Given the description of an element on the screen output the (x, y) to click on. 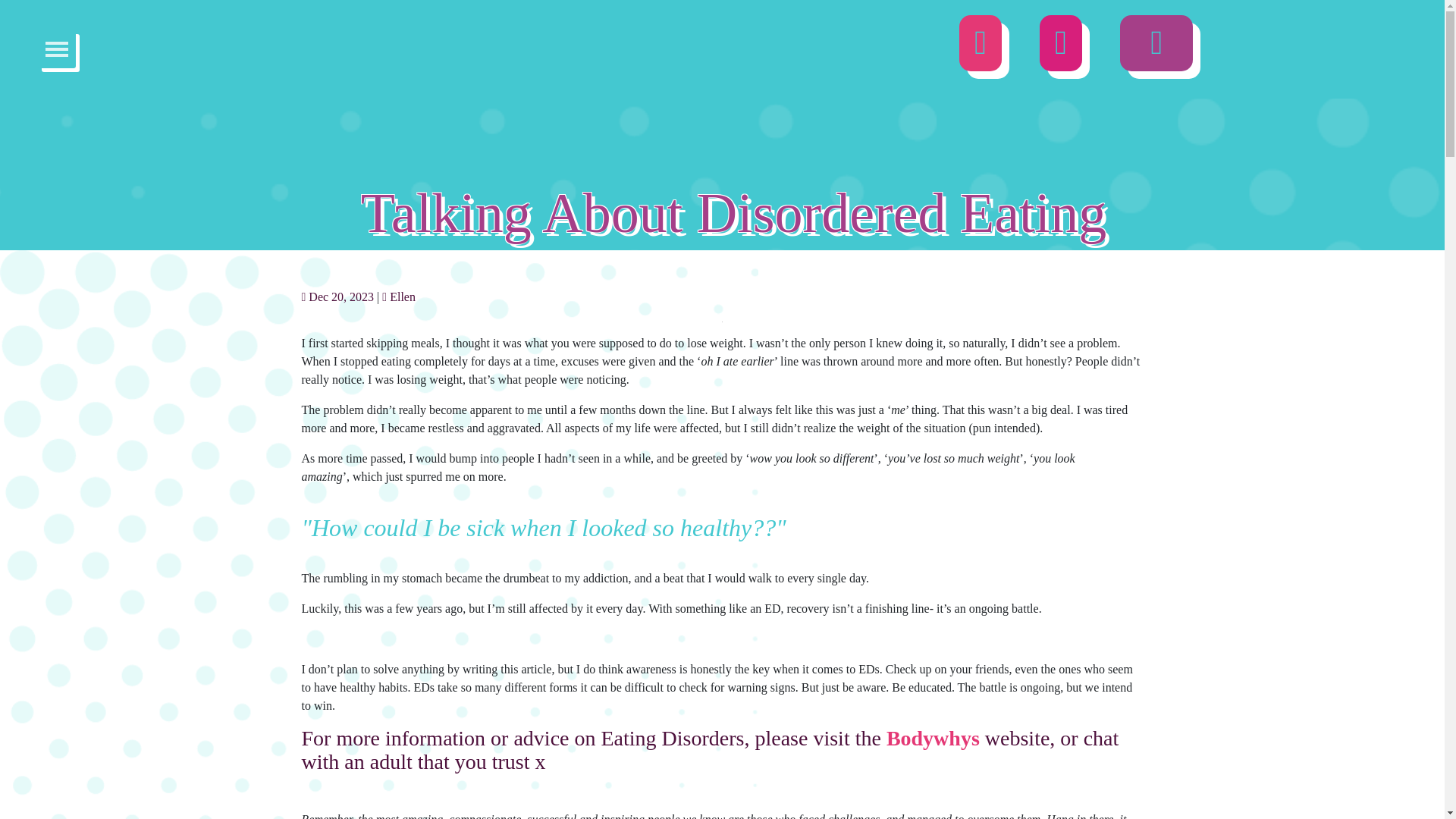
Bodywhys (932, 738)
Link to The Shona Project Twitter page (1060, 49)
Link to The Shona Project Facebook page (1155, 49)
Link to The Shona Project Instagram page (980, 49)
